Given the description of an element on the screen output the (x, y) to click on. 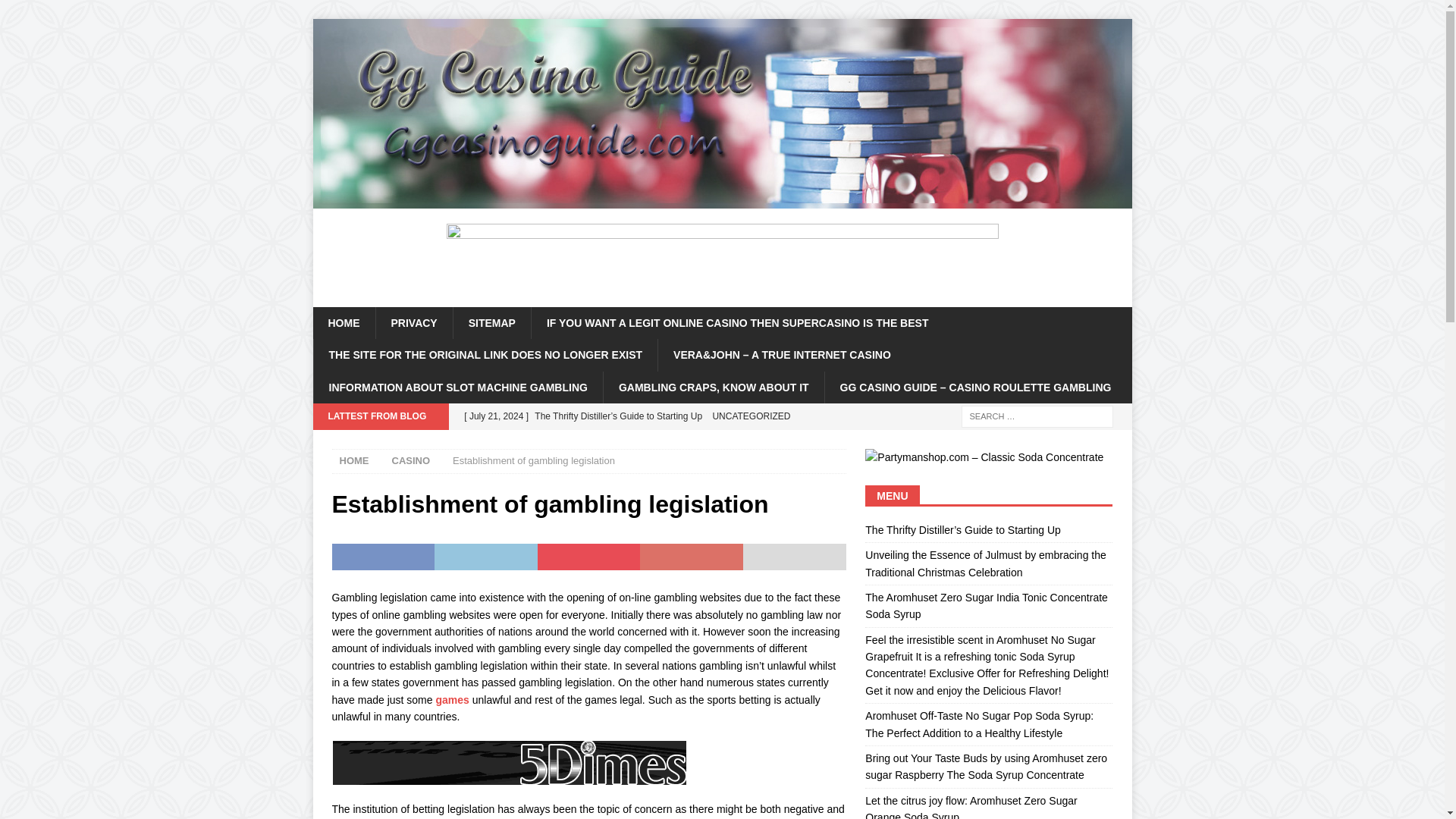
HOME (354, 460)
CASINO (410, 460)
Ggcasinoguide (722, 200)
PRIVACY (412, 323)
HOME (343, 323)
INFORMATION ABOUT SLOT MACHINE GAMBLING (457, 387)
Search (56, 11)
games (451, 698)
SITEMAP (491, 323)
THE SITE FOR THE ORIGINAL LINK DOES NO LONGER EXIST (485, 355)
GAMBLING CRAPS, KNOW ABOUT IT (713, 387)
